Given the description of an element on the screen output the (x, y) to click on. 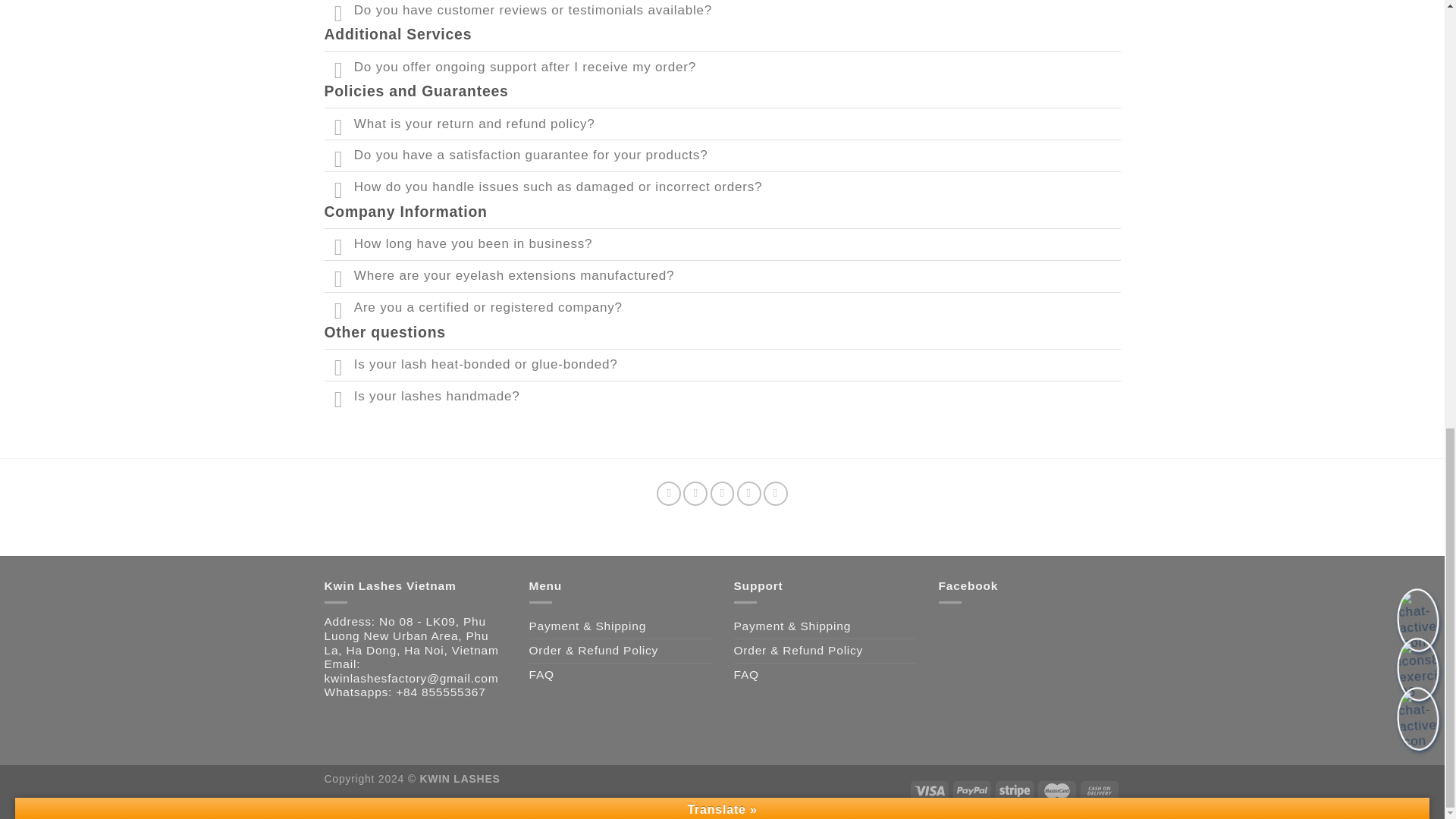
Follow on Twitter (721, 493)
Follow on Instagram (694, 493)
Follow on Facebook (668, 493)
Follow on YouTube (774, 493)
Send us an email (748, 493)
